Given the description of an element on the screen output the (x, y) to click on. 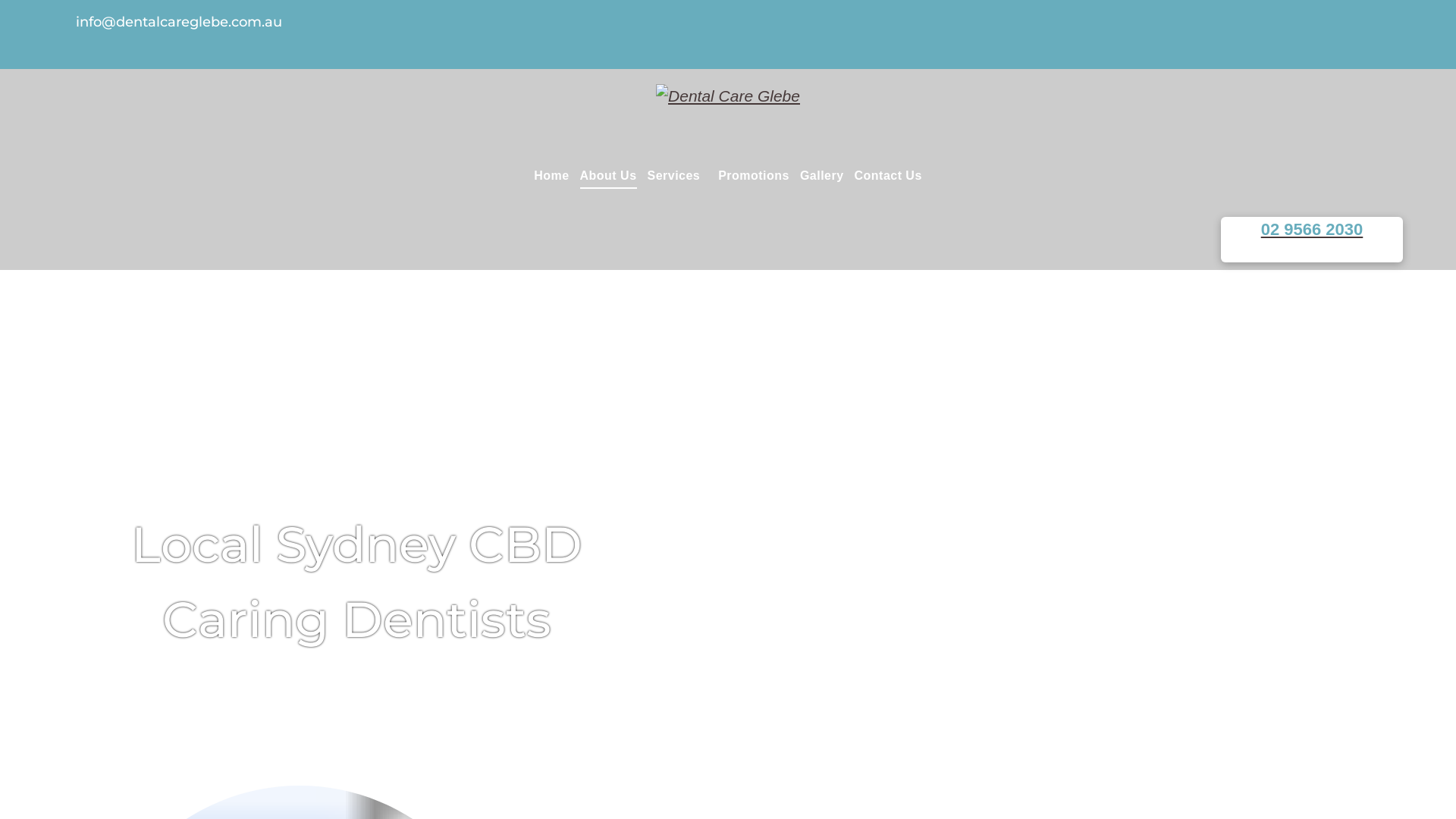
About Us Element type: text (608, 175)
02 9566 2030 Element type: text (1311, 239)
Promotions Element type: text (753, 175)
Gallery Element type: text (821, 175)
Dental Care Glebe Element type: hover (727, 96)
Services Element type: text (677, 175)
info@dentalcareglebe.com.au Element type: text (178, 21)
Contact Us Element type: text (888, 175)
Home Element type: text (551, 175)
